Given the description of an element on the screen output the (x, y) to click on. 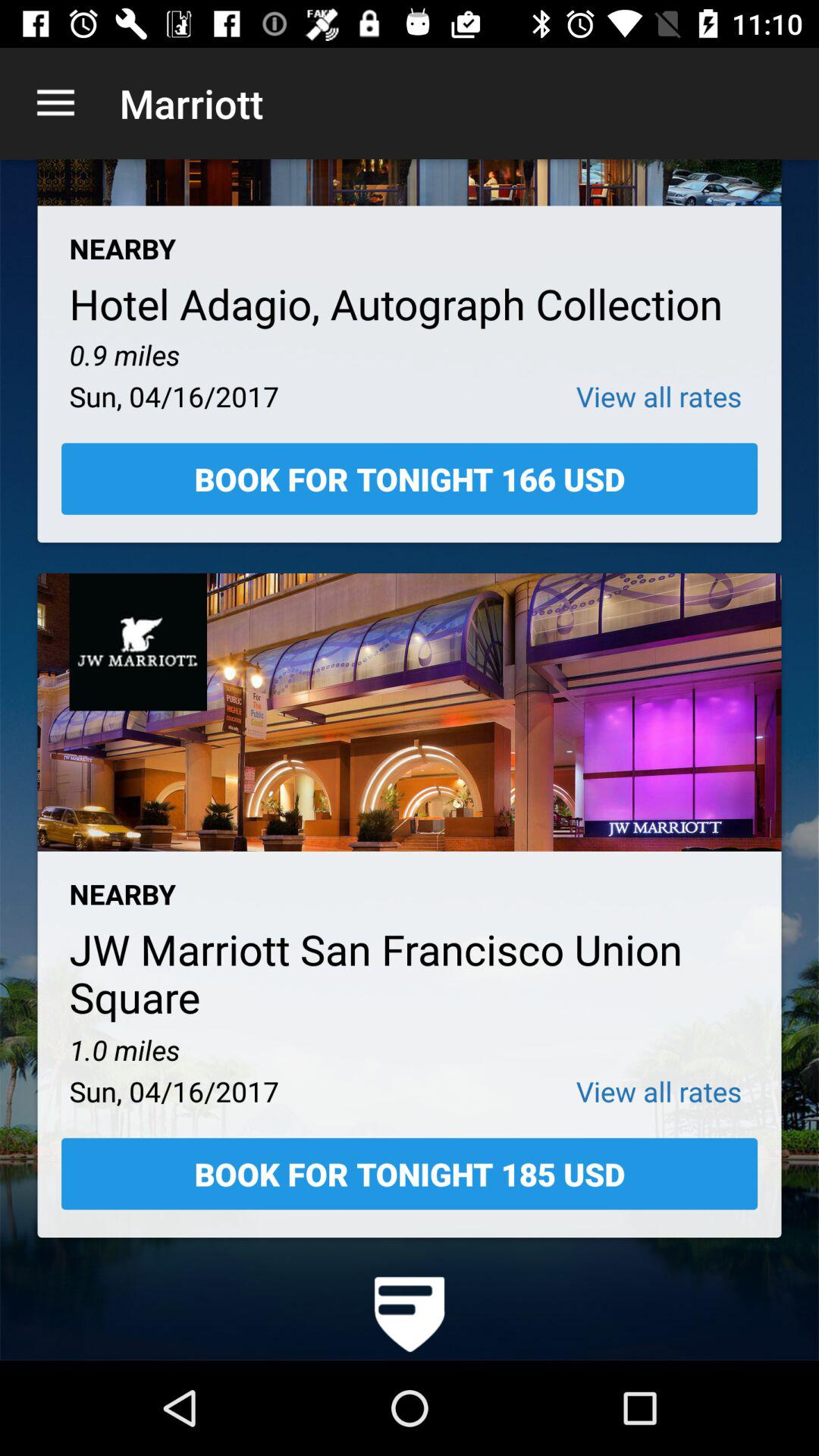
click the icon to the left of marriott (55, 103)
